Given the description of an element on the screen output the (x, y) to click on. 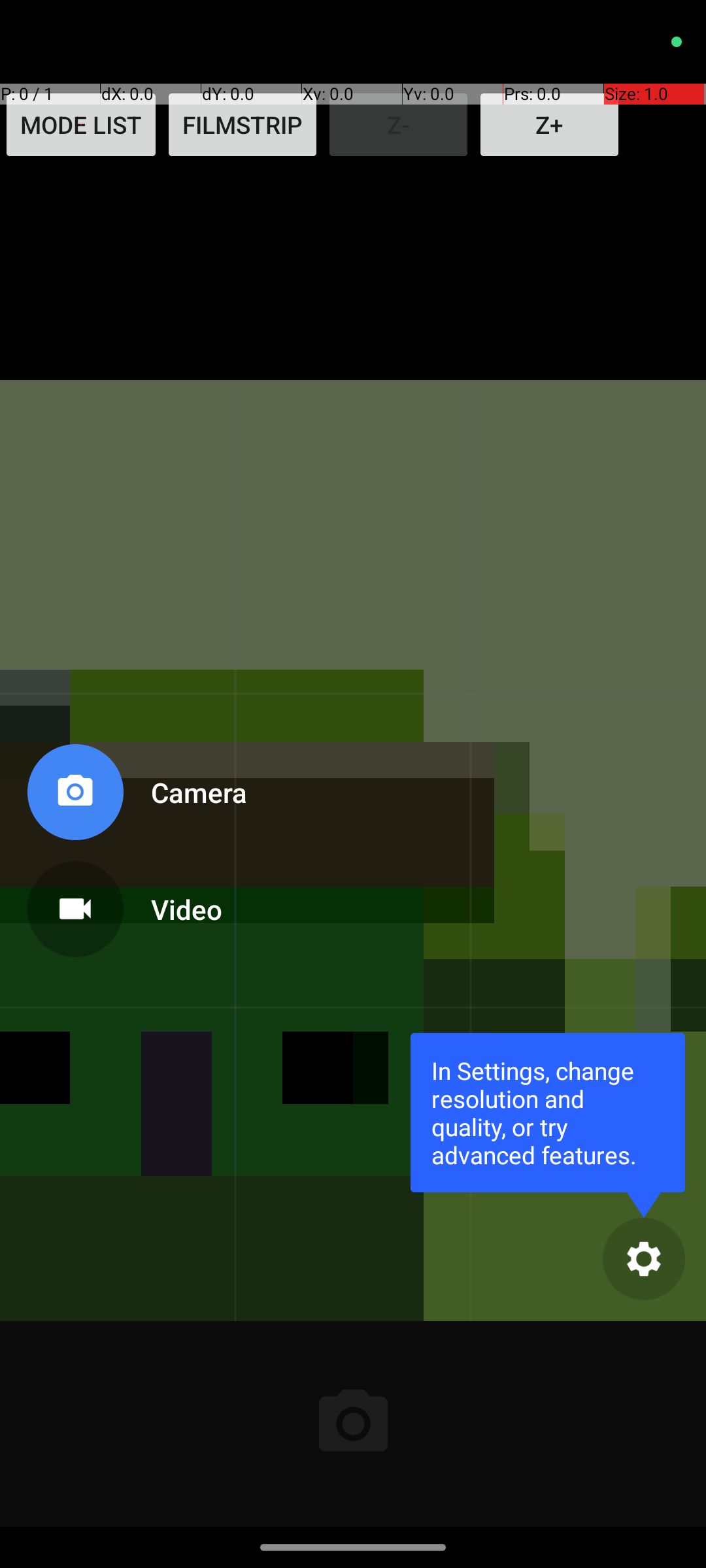
Switch to Camera Mode Element type: android.widget.FrameLayout (134, 797)
Switch to Video Camera Element type: android.widget.FrameLayout (134, 903)
In Settings, change resolution and quality, or try advanced features. Element type: android.widget.TextView (547, 1112)
Camera Element type: android.widget.TextView (185, 792)
